Given the description of an element on the screen output the (x, y) to click on. 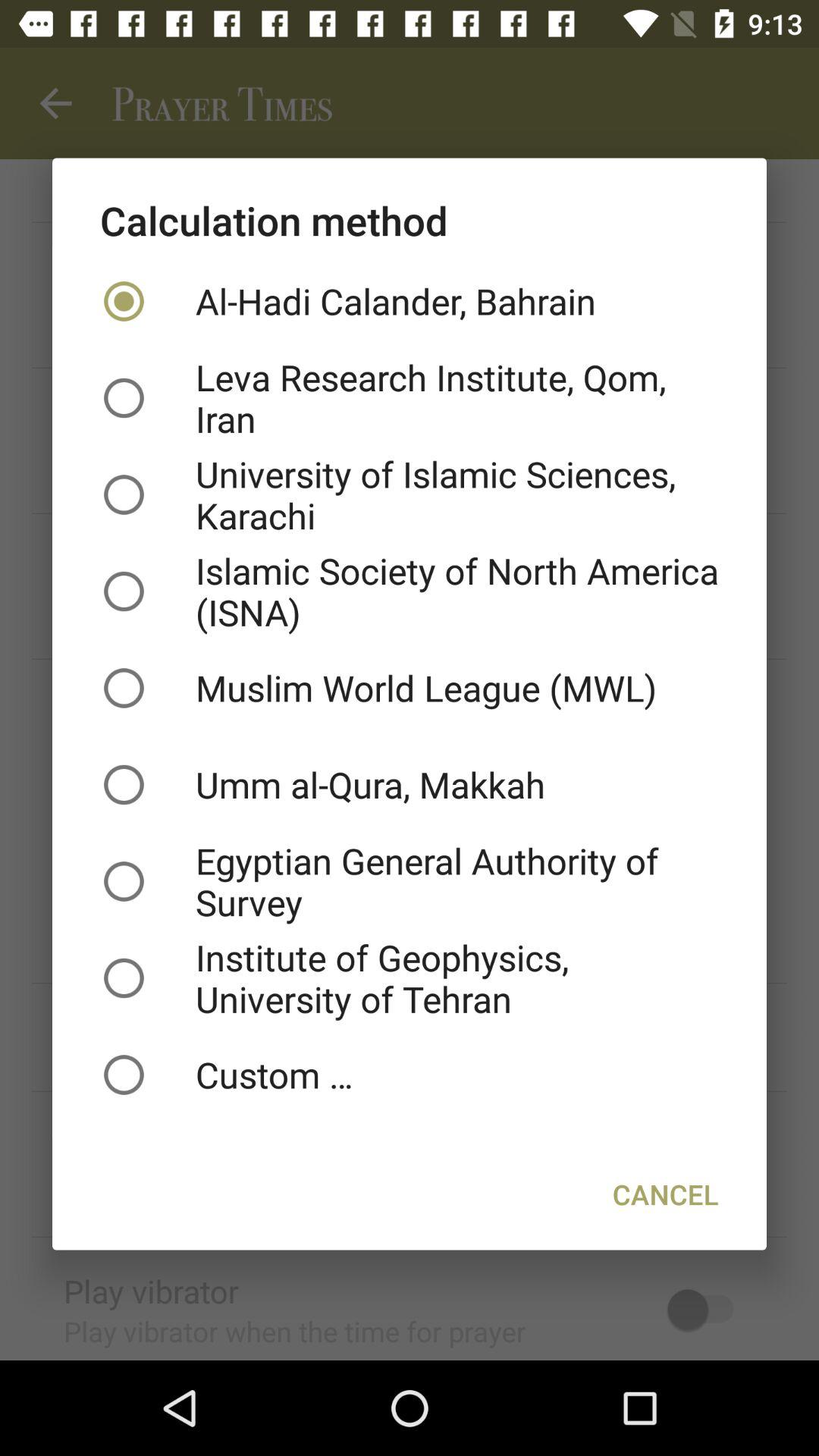
swipe to cancel item (665, 1194)
